Given the description of an element on the screen output the (x, y) to click on. 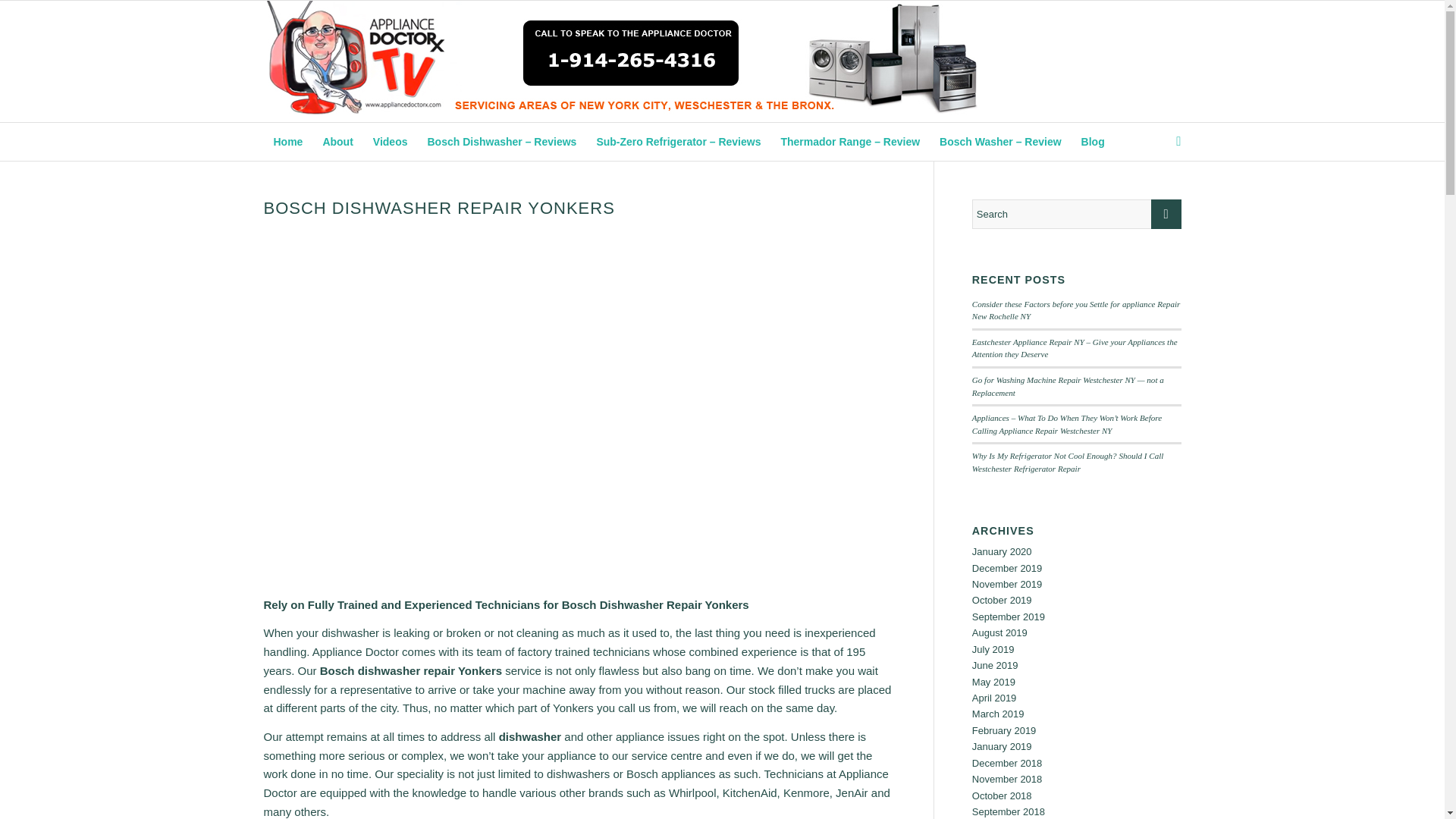
Videos (389, 141)
About (337, 141)
Home (288, 141)
